Given the description of an element on the screen output the (x, y) to click on. 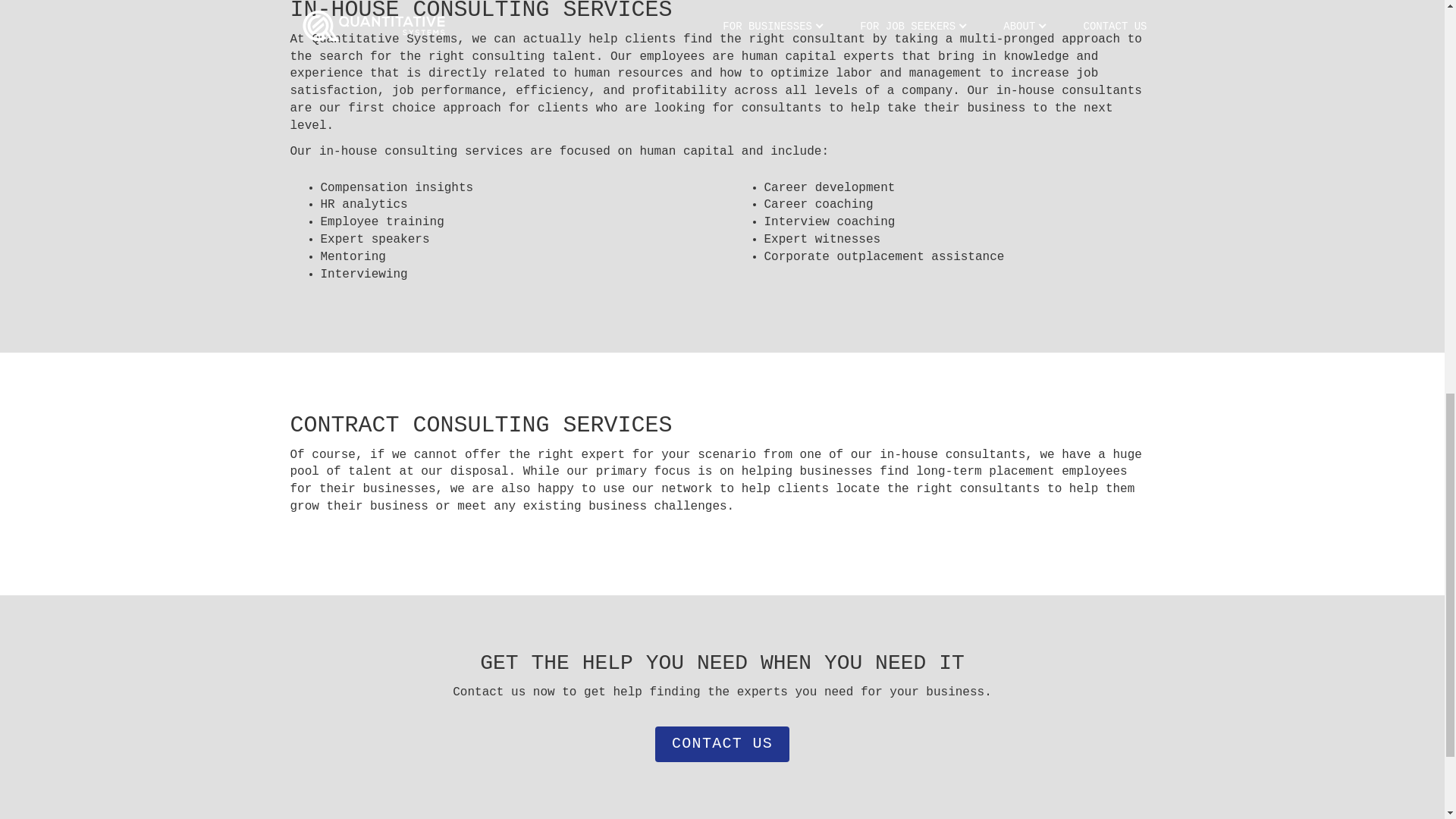
CONTACT US (722, 744)
